Given the description of an element on the screen output the (x, y) to click on. 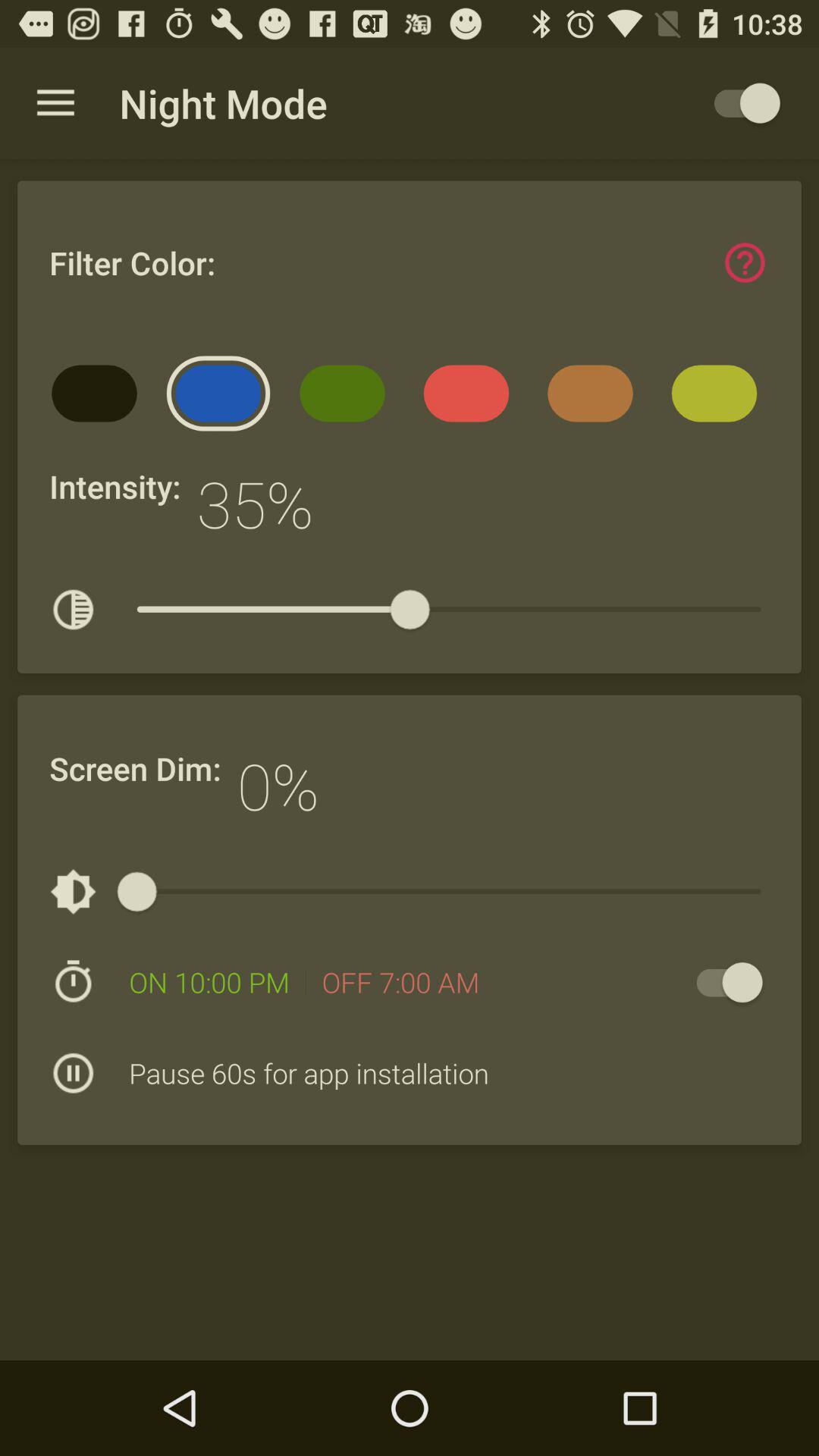
click the item below filter color: item (99, 398)
